Given the description of an element on the screen output the (x, y) to click on. 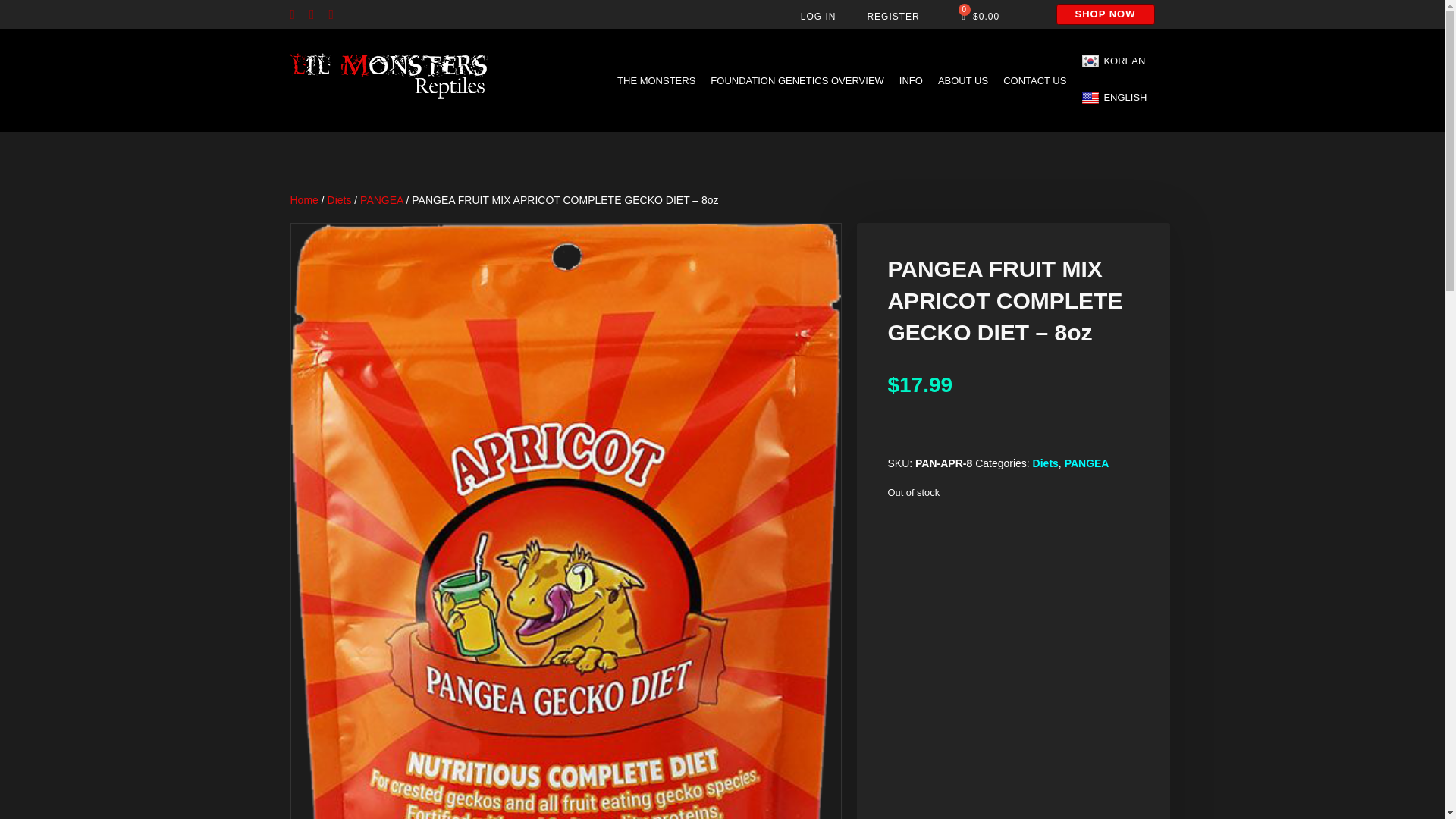
THE MONSTERS (656, 80)
SHOP NOW (1104, 14)
English (1114, 98)
LilMonsters-sm (389, 76)
ENGLISH (1114, 98)
CONTACT US (1034, 80)
KOREAN (1114, 62)
FOUNDATION GENETICS OVERVIEW (797, 80)
LOG IN (818, 16)
Korean (1114, 62)
Home (303, 200)
ABOUT US (962, 80)
Diets (339, 200)
PANGEA (381, 200)
INFO (910, 80)
